Given the description of an element on the screen output the (x, y) to click on. 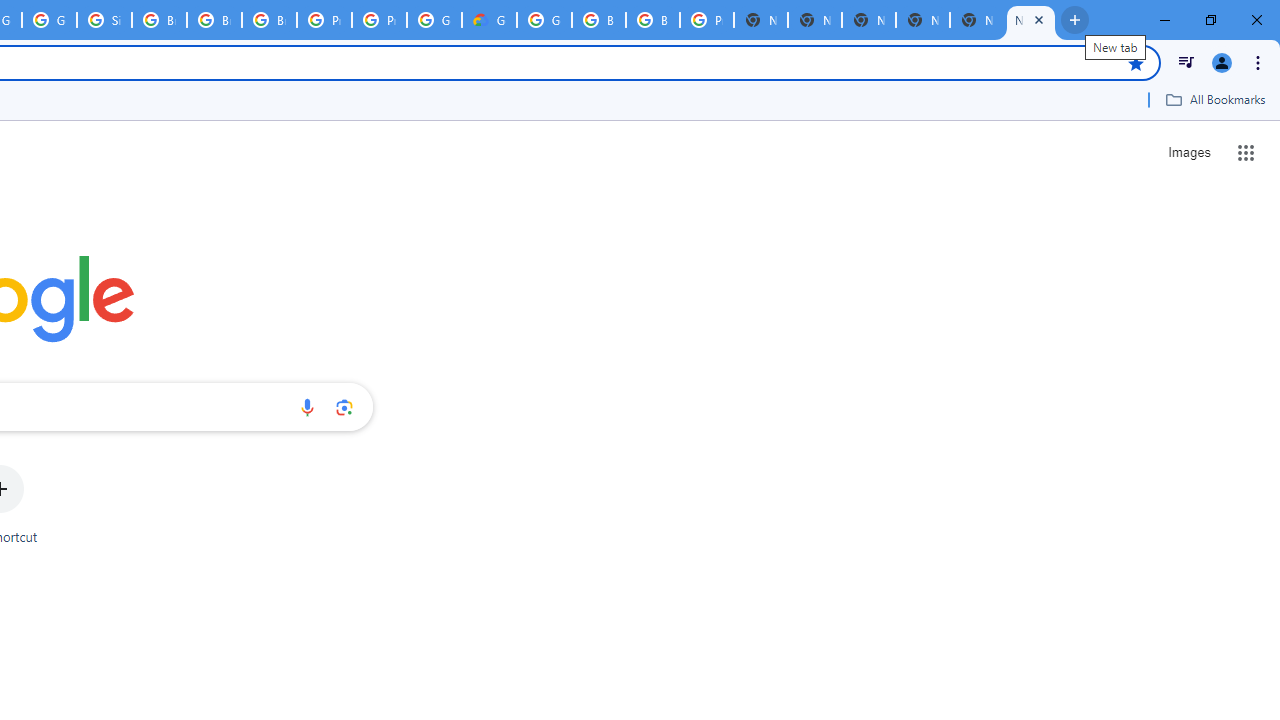
Browse Chrome as a guest - Computer - Google Chrome Help (268, 20)
New Tab (922, 20)
Browse Chrome as a guest - Computer - Google Chrome Help (213, 20)
Browse Chrome as a guest - Computer - Google Chrome Help (598, 20)
Control your music, videos, and more (1185, 62)
New Tab (1030, 20)
Google Cloud Platform (434, 20)
Google Cloud Platform (544, 20)
